Given the description of an element on the screen output the (x, y) to click on. 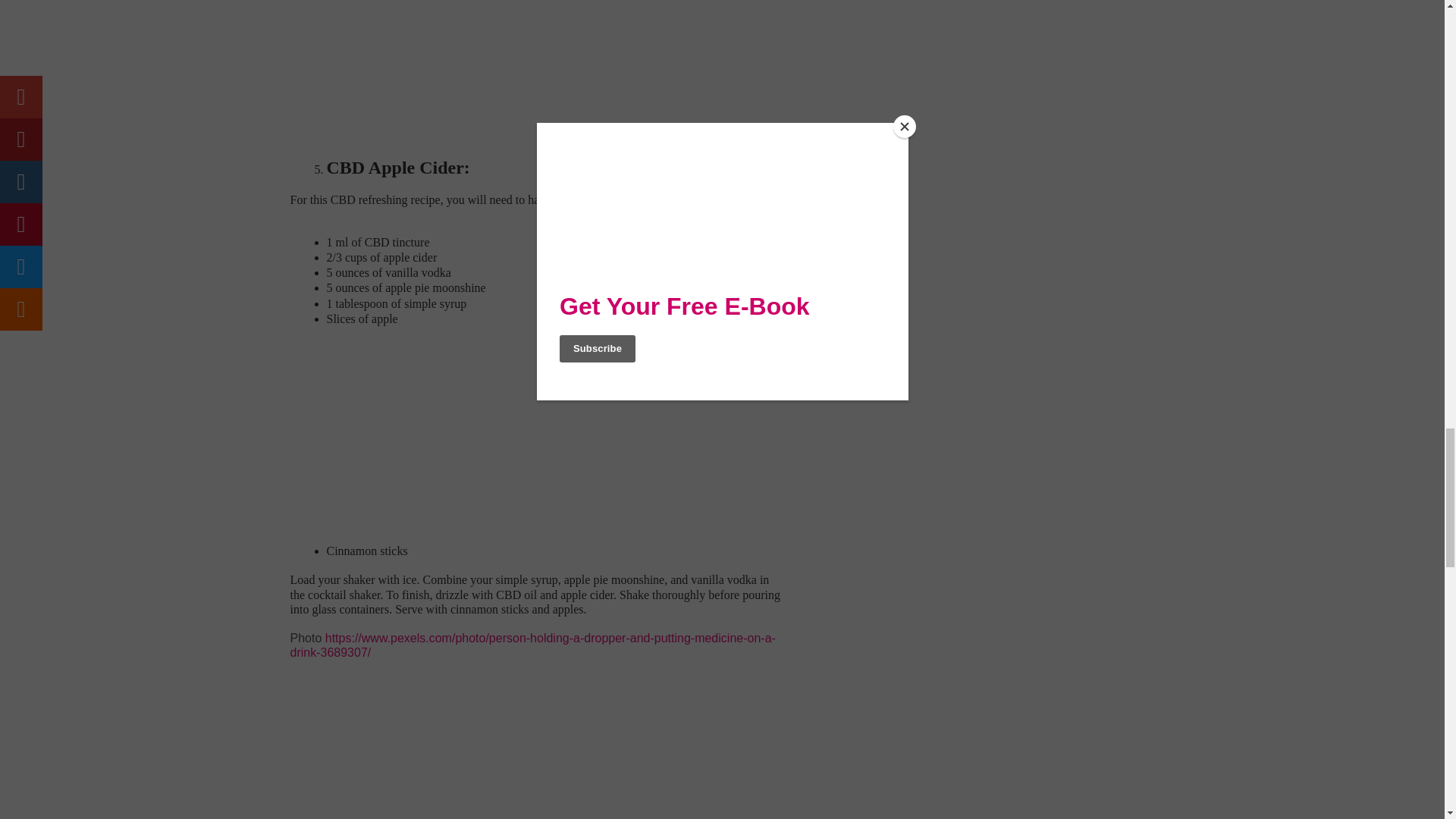
Advertisement (416, 62)
